Given the description of an element on the screen output the (x, y) to click on. 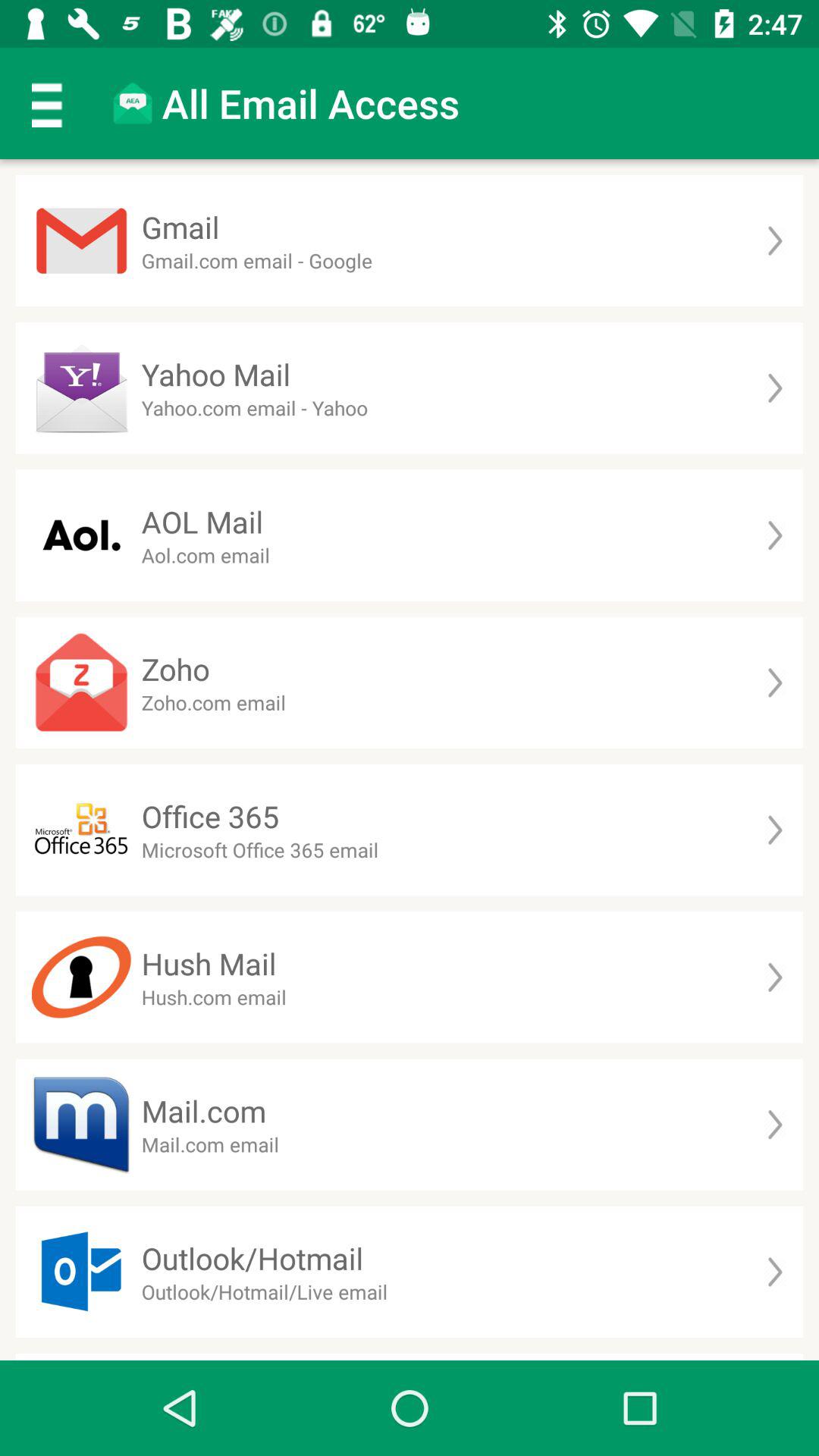
press hush mail item (208, 963)
